Given the description of an element on the screen output the (x, y) to click on. 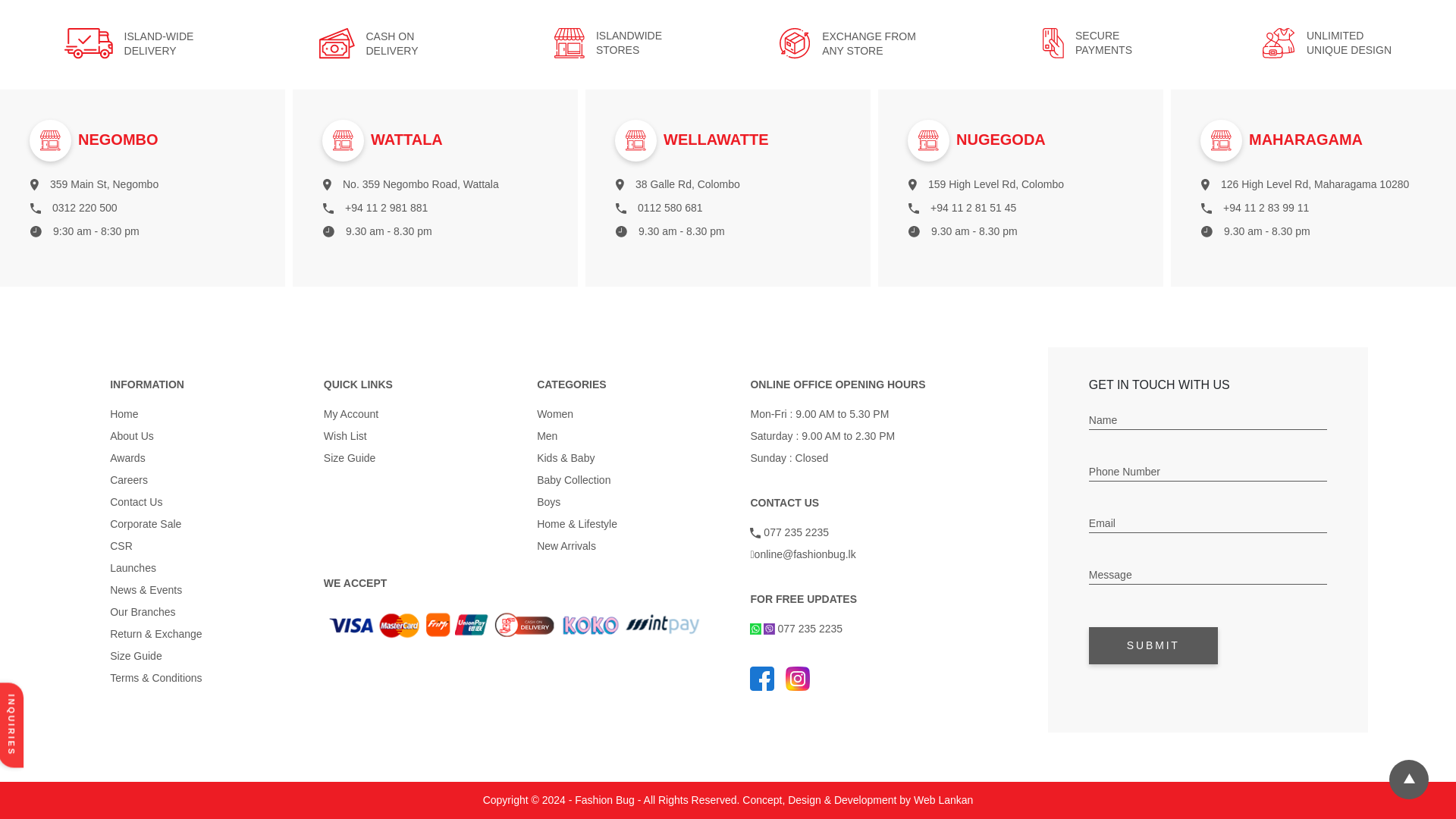
Wish List (418, 436)
Size Guide (205, 656)
Awards (205, 458)
Contact Us (205, 502)
Size Guide (418, 458)
About Us (205, 436)
Submit (1153, 645)
CSR (205, 545)
My Account (418, 414)
Home (205, 414)
Corporate Sale (205, 523)
Launches (205, 568)
Our Branches (205, 612)
Careers (205, 480)
